Given the description of an element on the screen output the (x, y) to click on. 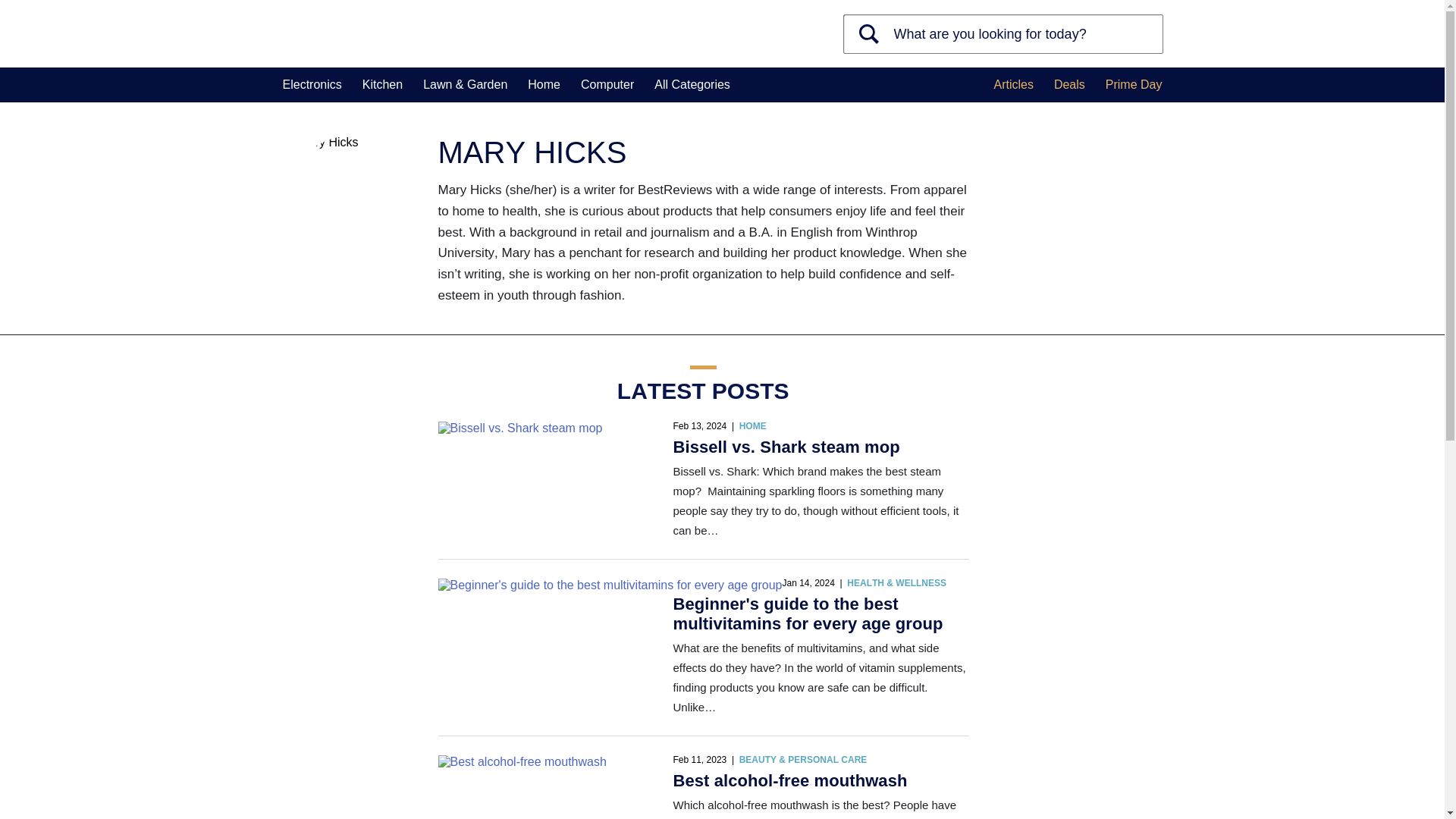
Electronics (311, 84)
HOME (753, 425)
Best alcohol-free mouthwash (522, 762)
Prime Day (1133, 84)
Computer (606, 84)
Best alcohol-free mouthwash (789, 780)
Bissell vs. Shark steam mop (520, 427)
All Categories (691, 84)
Articles (1012, 84)
Kitchen (382, 84)
Bissell vs. Shark steam mop (785, 446)
Home (543, 84)
Deals (1069, 84)
